Given the description of an element on the screen output the (x, y) to click on. 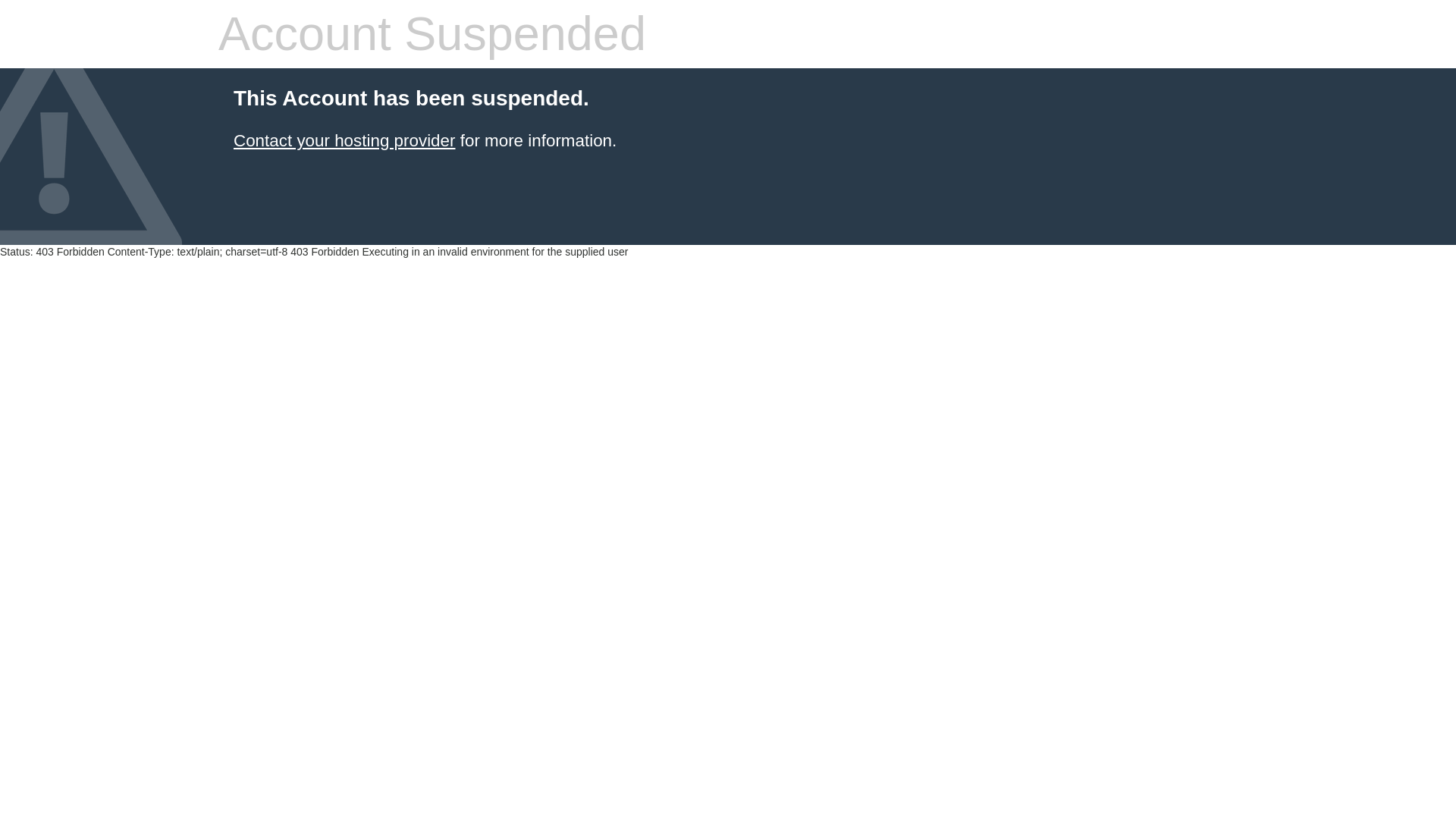
Contact your hosting provider (343, 140)
